Given the description of an element on the screen output the (x, y) to click on. 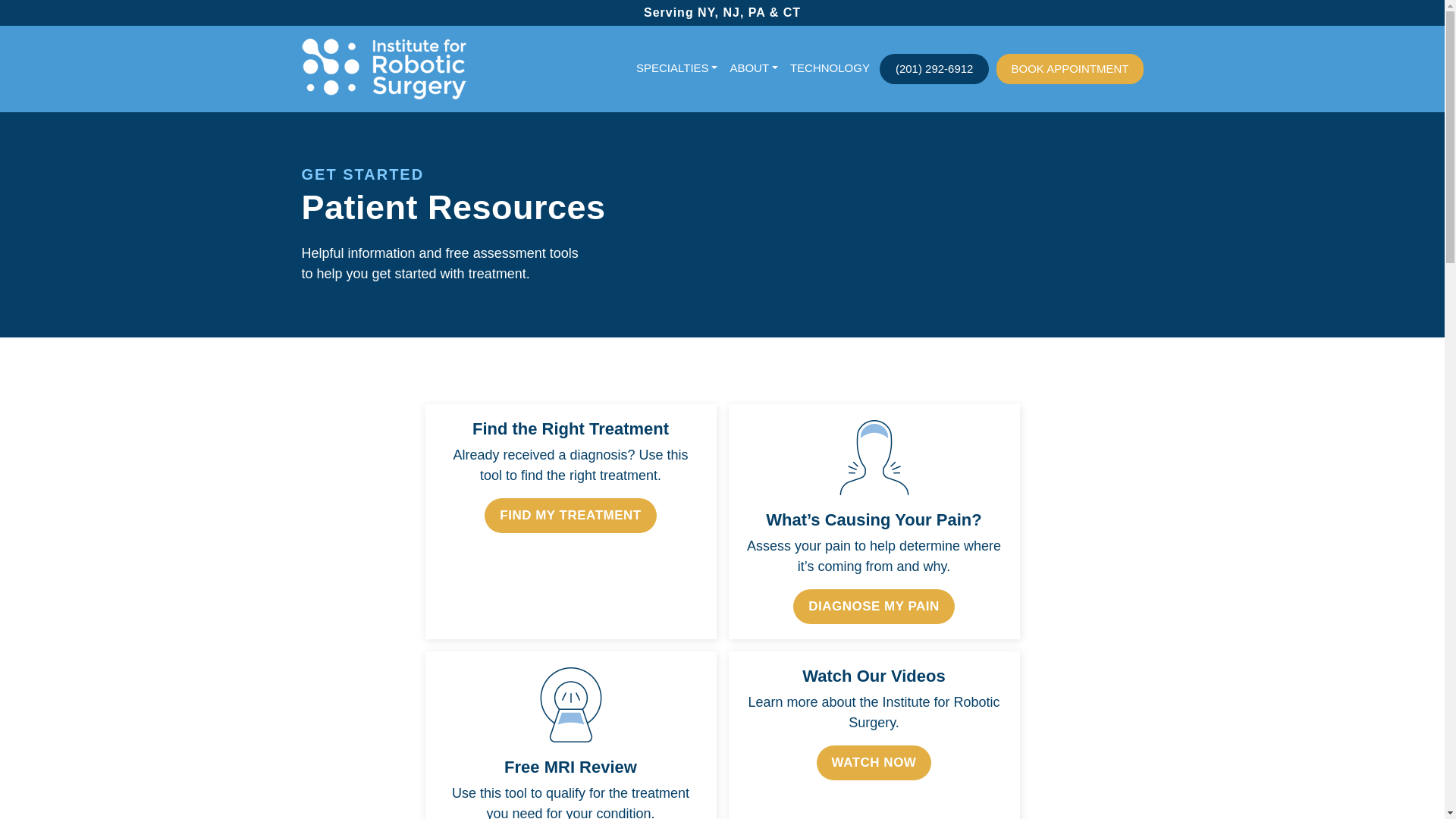
Specialties (676, 68)
WATCH NOW (873, 762)
ABOUT (753, 68)
DIAGNOSE MY PAIN (874, 606)
SPECIALTIES (676, 68)
FIND MY TREATMENT (570, 515)
TECHNOLOGY (830, 68)
Technology (830, 68)
BOOK APPOINTMENT (1068, 69)
About (753, 68)
